Given the description of an element on the screen output the (x, y) to click on. 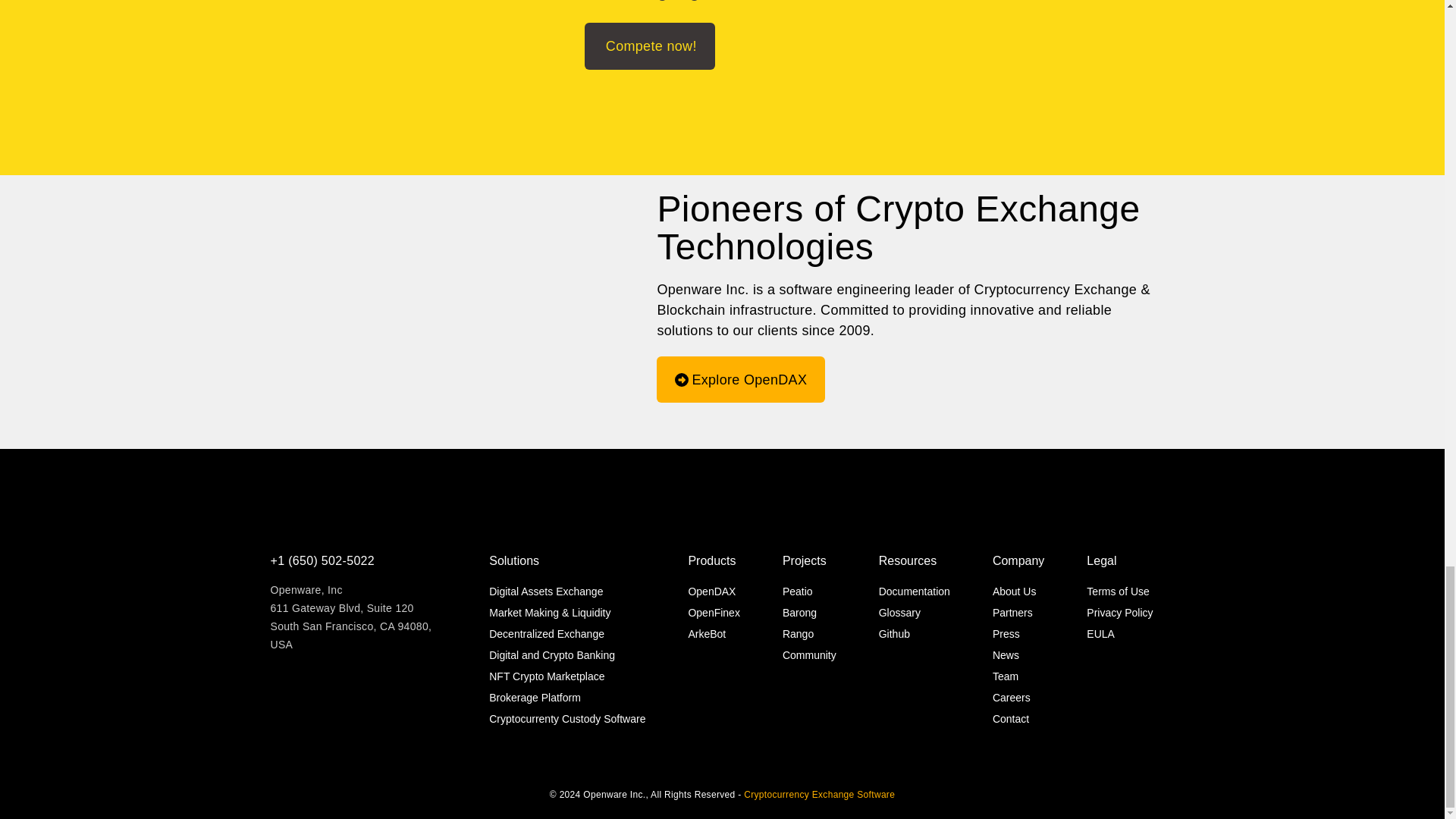
Glossary (914, 612)
Products (713, 560)
Partners (1017, 612)
Barong (809, 612)
Resources (914, 560)
Compete now! (649, 45)
Digital Assets Exchange (567, 590)
Peatio (809, 590)
Terms of Use (1119, 590)
Community (809, 654)
